Given the description of an element on the screen output the (x, y) to click on. 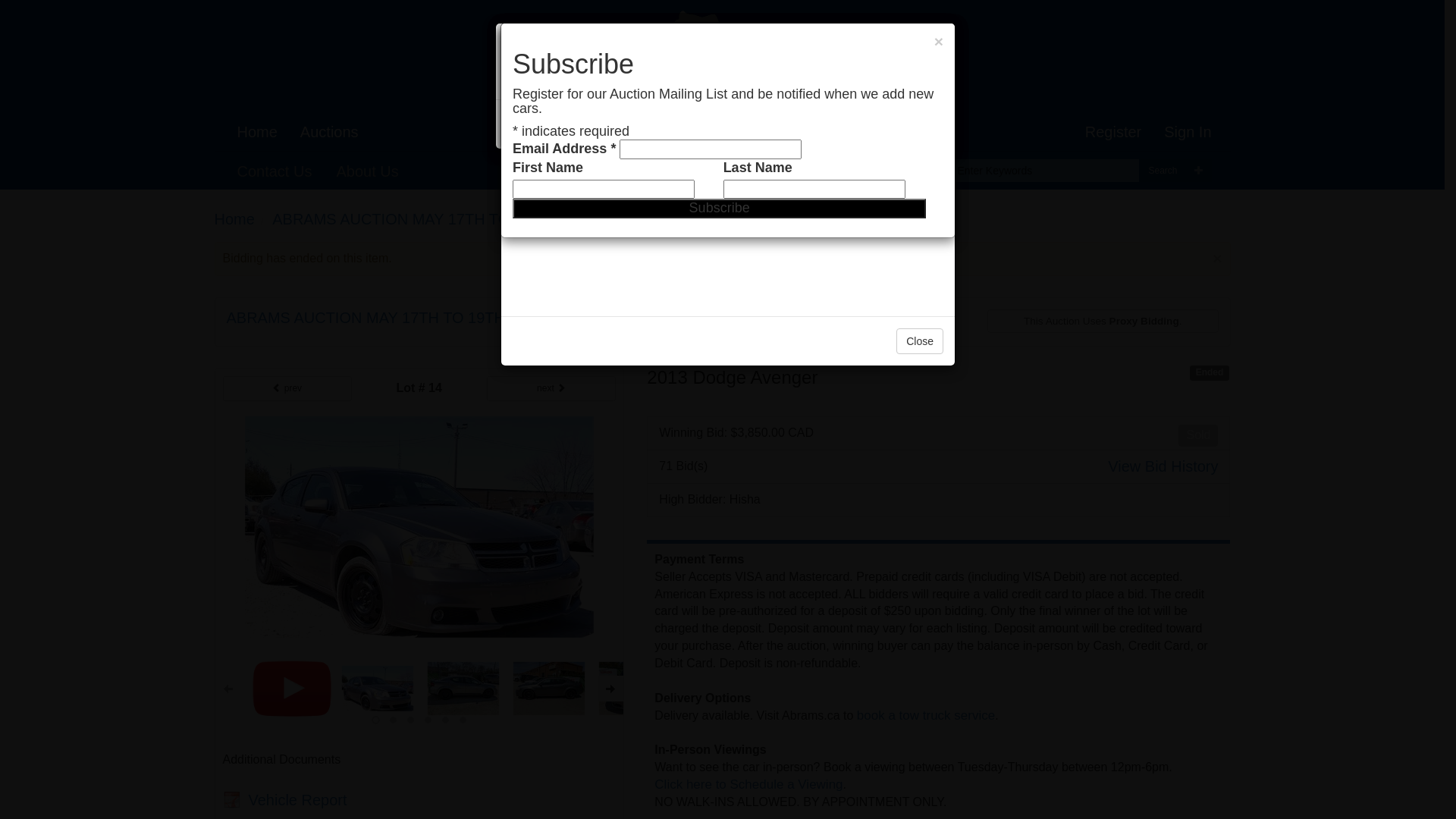
Close Element type: text (914, 124)
Contact Us Element type: text (274, 171)
Cars, SUVs & Mini Vans Element type: text (649, 218)
0 Element type: text (375, 719)
book a tow truck service Element type: text (925, 715)
Subscribe Element type: text (718, 208)
Close Element type: text (919, 124)
Sign In Element type: text (1187, 131)
Click here to Schedule a Viewing Element type: text (912, 793)
next Element type: text (610, 688)
YouTube video player Element type: hover (728, 166)
Auctions Element type: text (329, 131)
prev Element type: text (286, 388)
Previous Element type: text (228, 688)
5 Element type: text (462, 719)
Cars Element type: text (760, 218)
Close Element type: text (919, 341)
Home Element type: text (256, 131)
4 Element type: text (445, 719)
2 Element type: text (410, 719)
next Element type: text (550, 388)
Register Element type: text (1112, 131)
1 Element type: text (393, 719)
Search Element type: text (1162, 170)
Vehicle Report Element type: text (284, 801)
3 Element type: text (428, 719)
About Us Element type: text (366, 171)
ABRAMS AUCTION MAY 17TH TO 19TH Element type: text (411, 218)
Home Element type: text (233, 218)
ABRAMS AUCTION MAY 17TH TO 19TH Element type: text (365, 317)
View Bid History Element type: text (1162, 466)
